Given the description of an element on the screen output the (x, y) to click on. 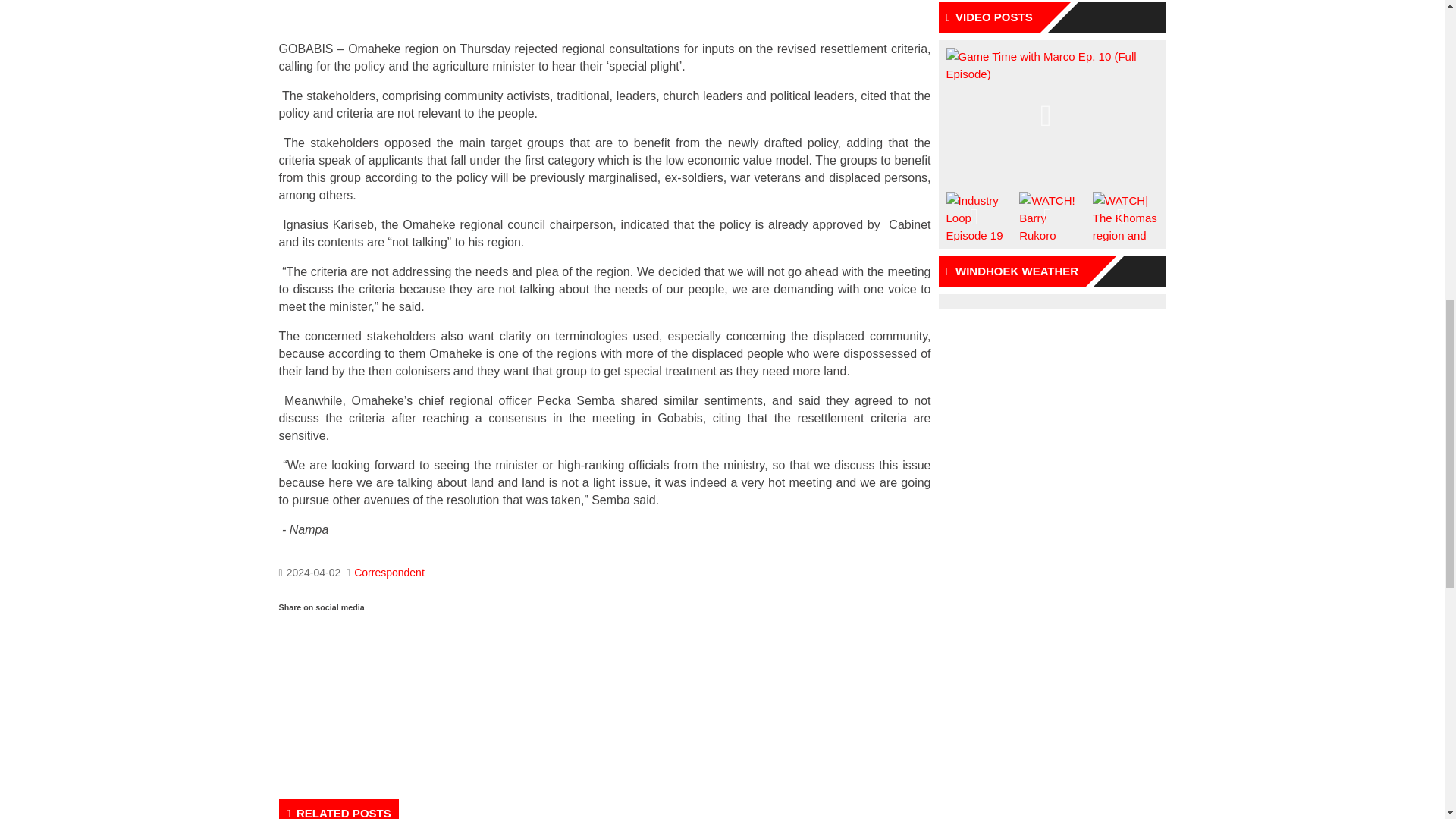
Advertisement (605, 699)
Correspondent (389, 572)
Advertisement (605, 13)
